Given the description of an element on the screen output the (x, y) to click on. 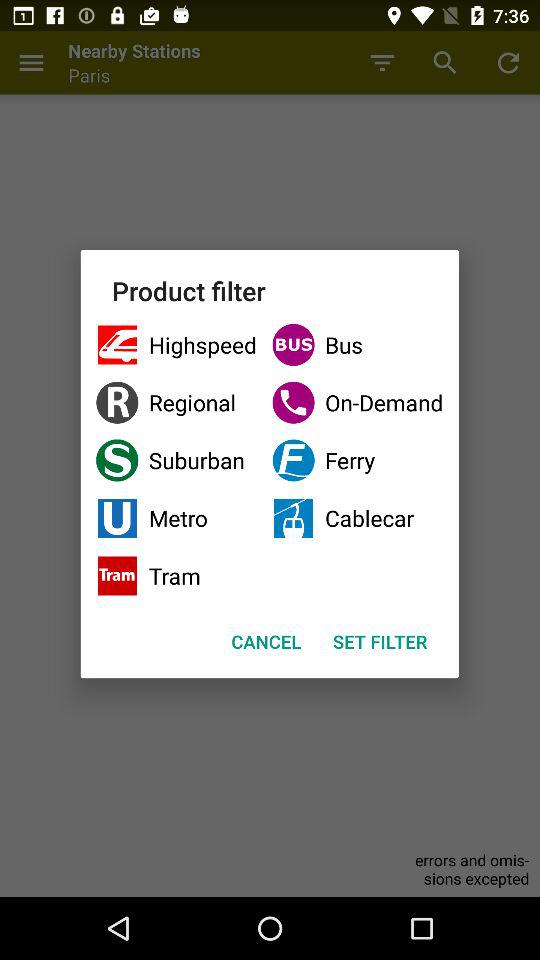
click checkbox to the left of the bus item (176, 402)
